Given the description of an element on the screen output the (x, y) to click on. 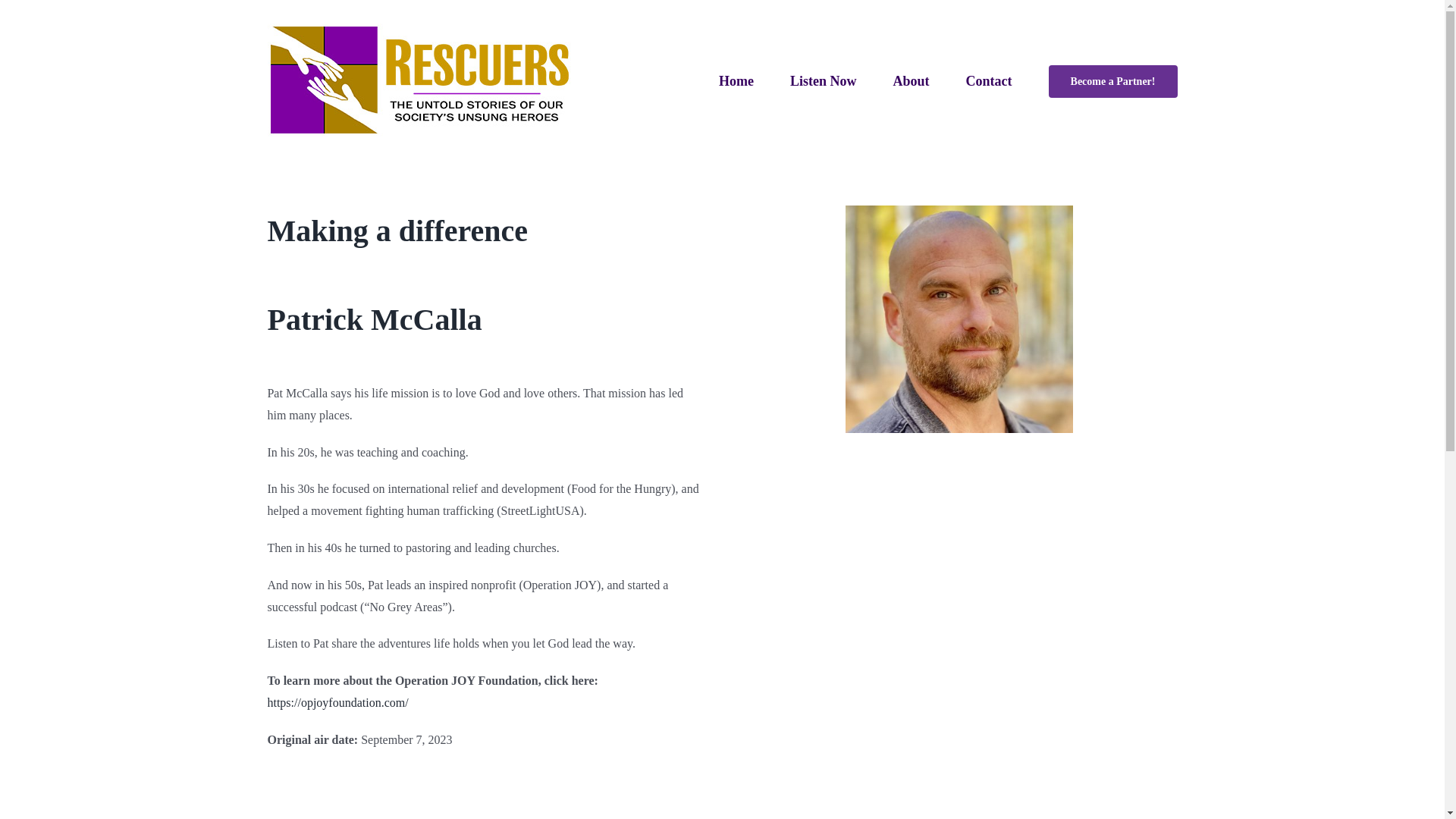
Patrick McCalla (957, 319)
